Given the description of an element on the screen output the (x, y) to click on. 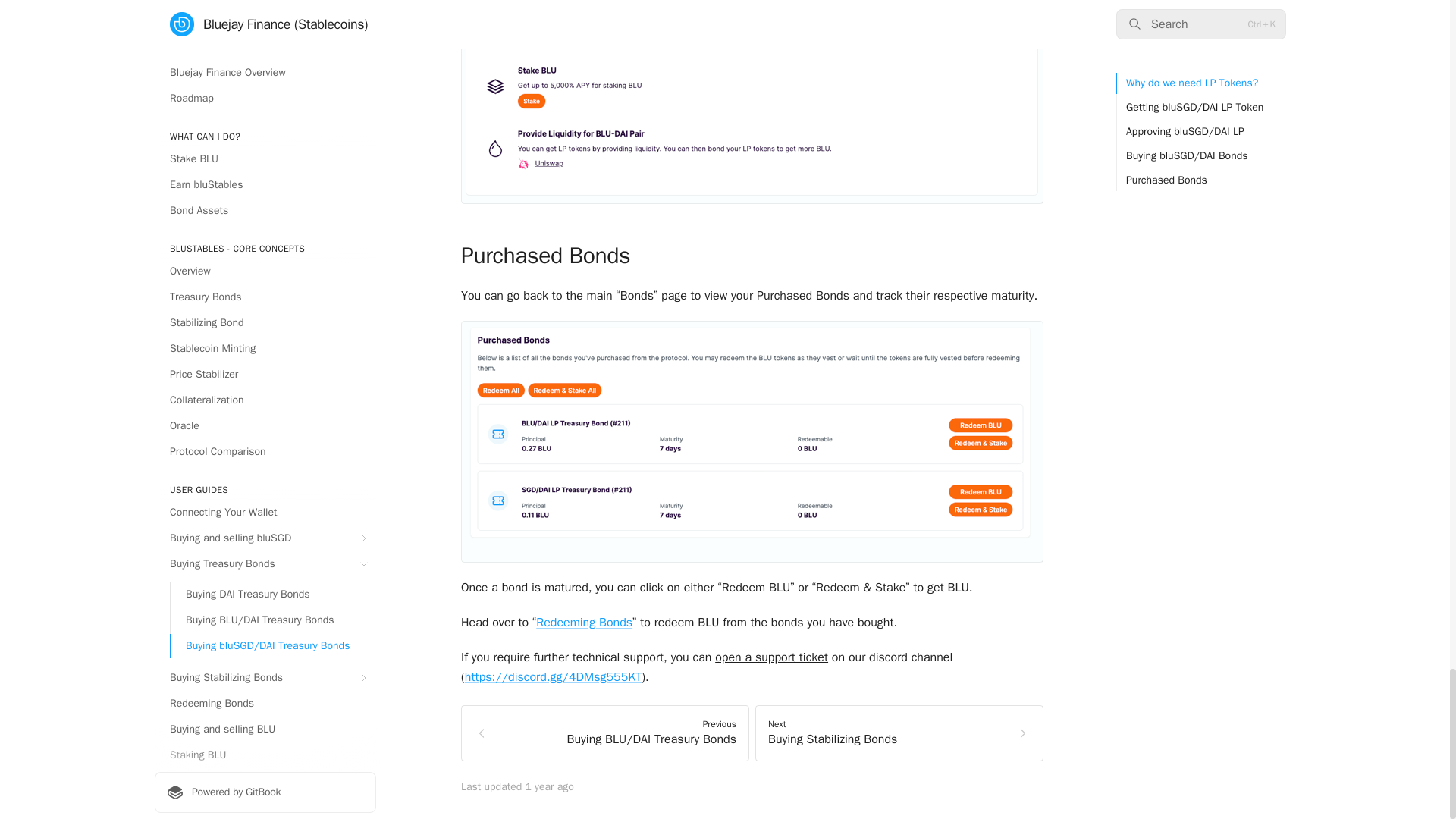
Broken link (771, 656)
